Given the description of an element on the screen output the (x, y) to click on. 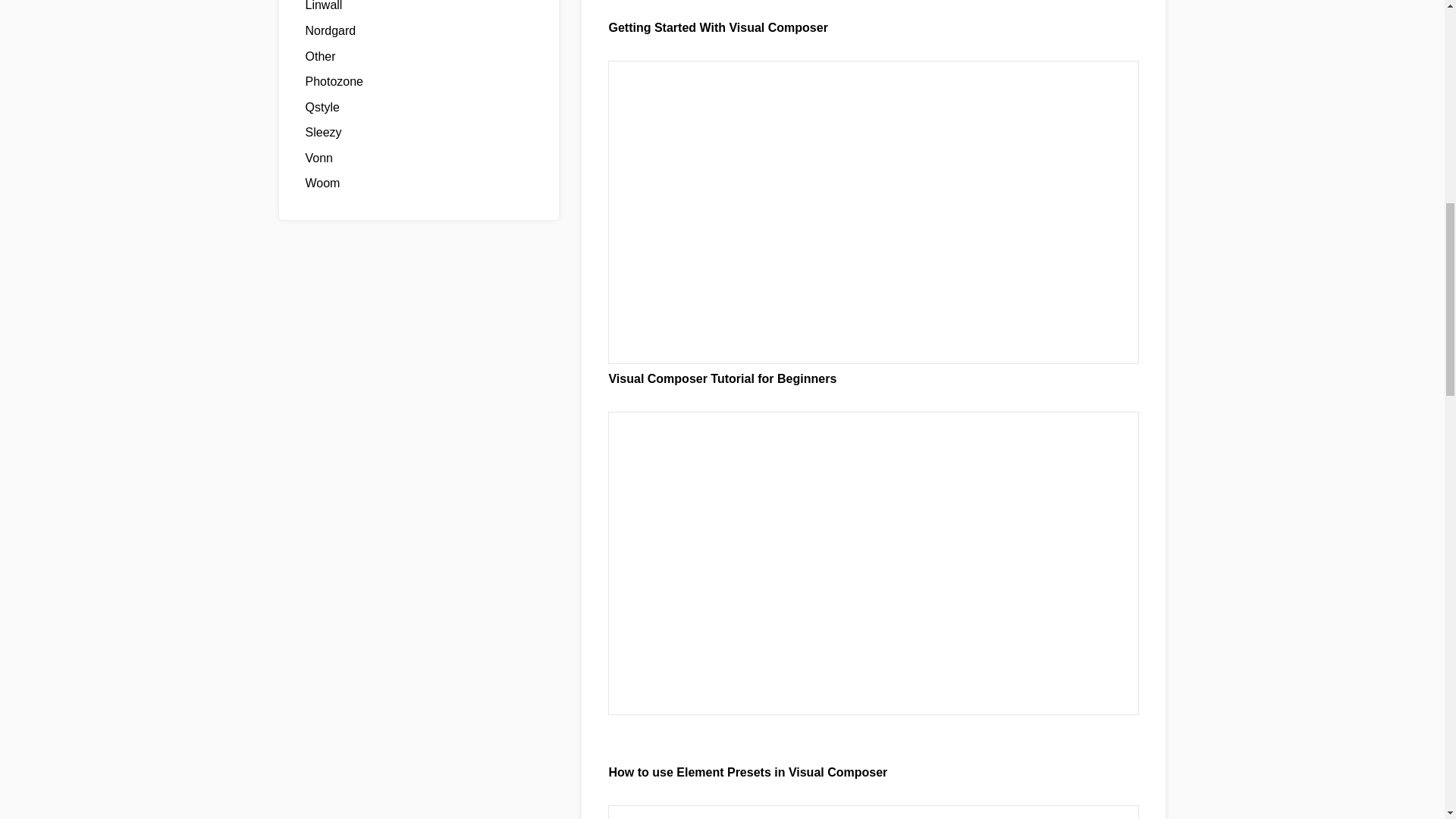
Linwall (323, 5)
Nordgard (329, 30)
Photozone (333, 81)
Woom (321, 182)
Other (319, 56)
Nordgard (329, 30)
Sleezy (322, 132)
Linwall (323, 5)
Other (319, 56)
Qstyle (321, 106)
